Given the description of an element on the screen output the (x, y) to click on. 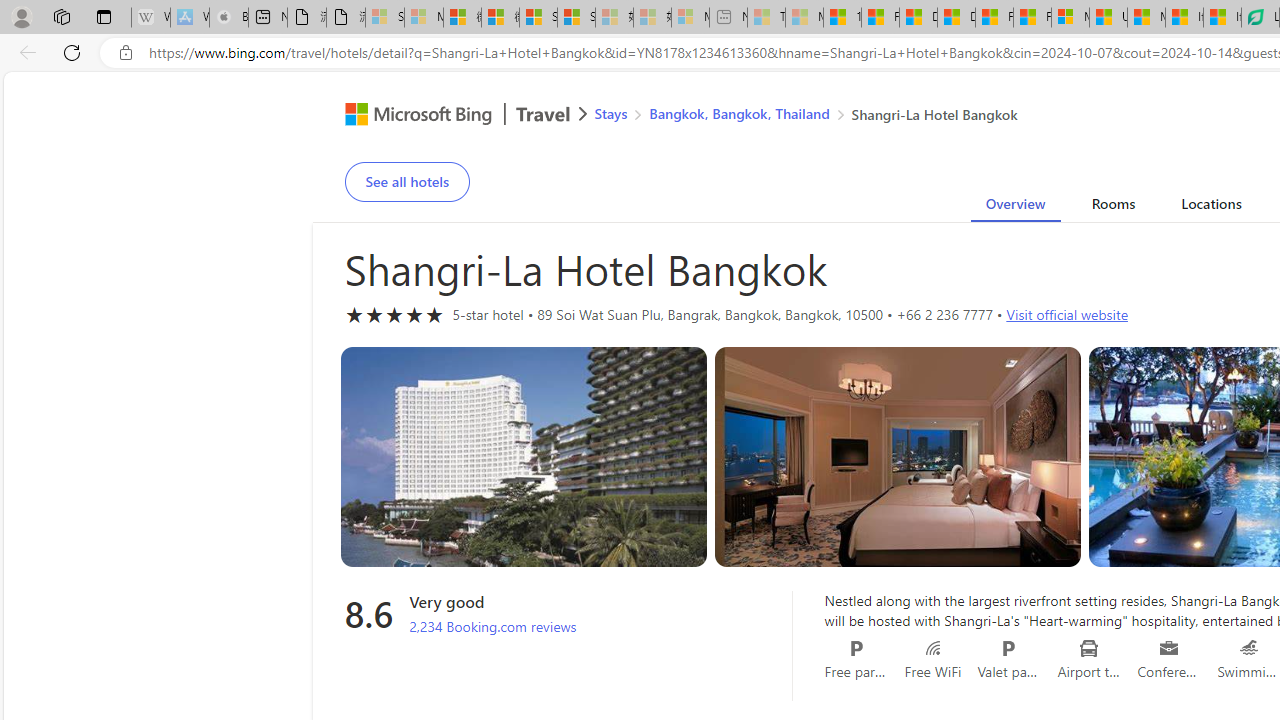
Buy iPad - Apple - Sleeping (228, 17)
Conference rooms (1168, 647)
Microsoft Bing Travel (445, 116)
5-star hotel  (394, 314)
Travel (543, 116)
Visit official website (1066, 314)
Microsoft Services Agreement - Sleeping (423, 17)
Marine life - MSN - Sleeping (804, 17)
Hotel room image (897, 457)
2,234 Booking.com reviews (493, 627)
Free parking (856, 647)
